Given the description of an element on the screen output the (x, y) to click on. 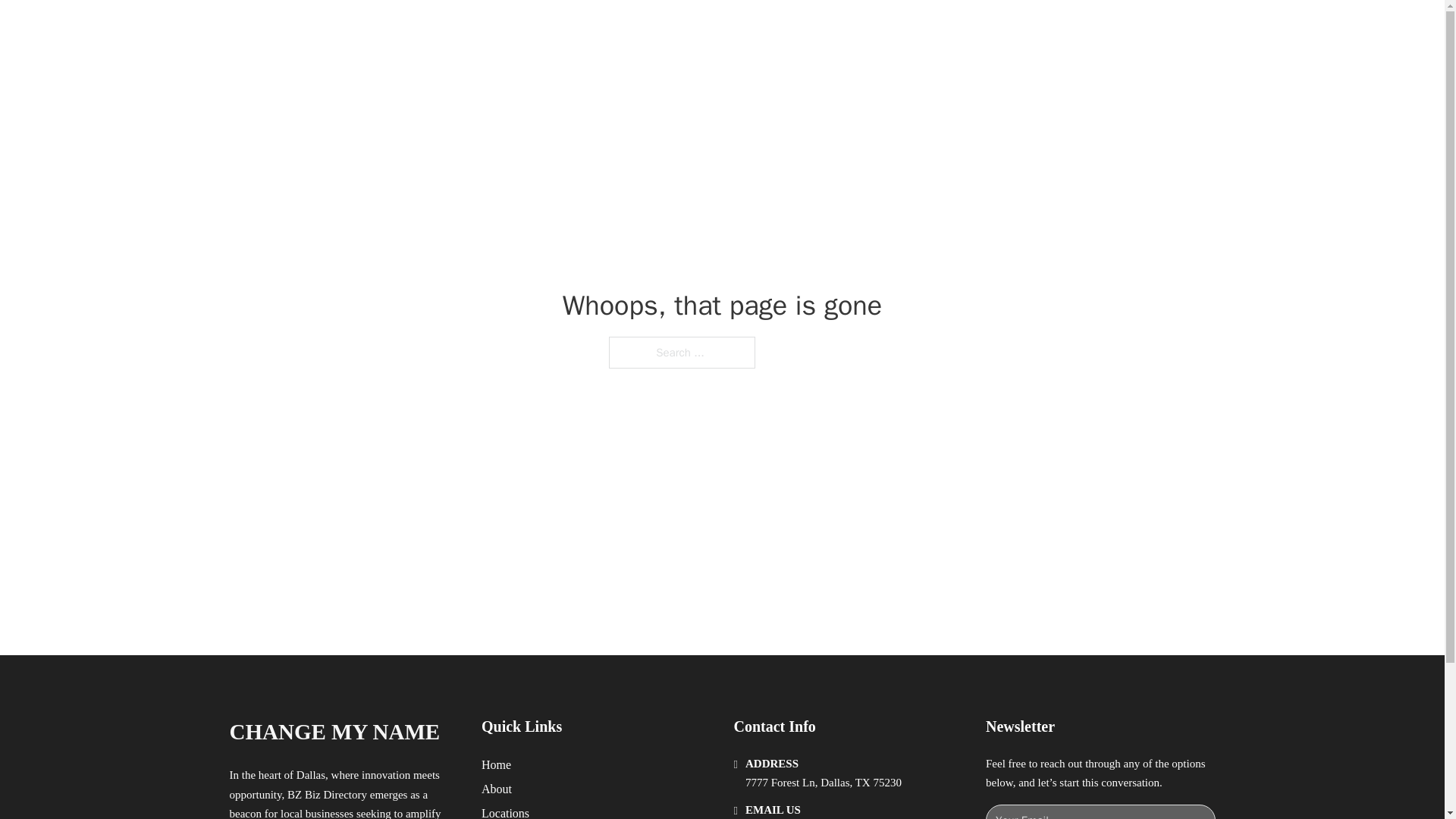
About (496, 788)
LOCATIONS (990, 29)
CHANGE MY NAME (333, 732)
Home (496, 764)
Locations (505, 811)
BZ BIZ DIRECTORY (403, 28)
HOME (919, 29)
